Given the description of an element on the screen output the (x, y) to click on. 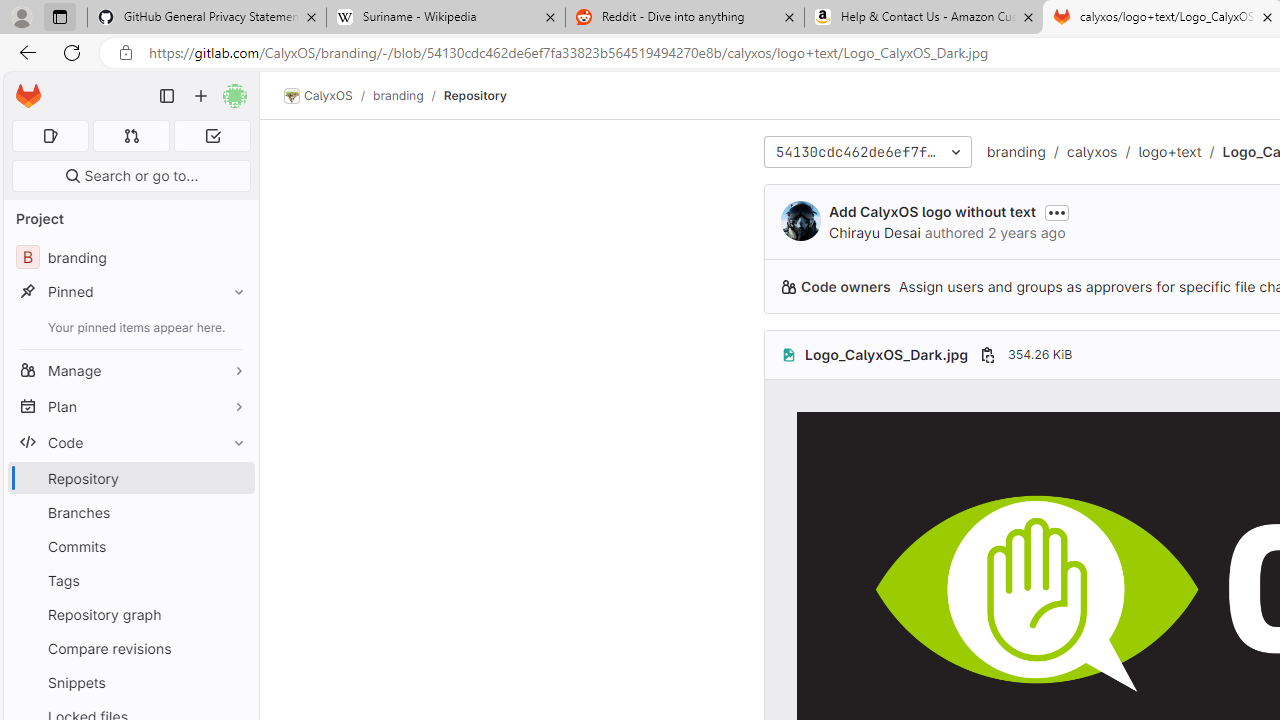
calyxos (1091, 151)
Pin Branches (234, 511)
Tags (130, 579)
Commits (130, 546)
Assigned issues 0 (50, 136)
Repository graph (130, 614)
Suriname - Wikipedia (445, 17)
Plan (130, 406)
Compare revisions (130, 648)
Commits (130, 546)
Bbranding (130, 257)
